Given the description of an element on the screen output the (x, y) to click on. 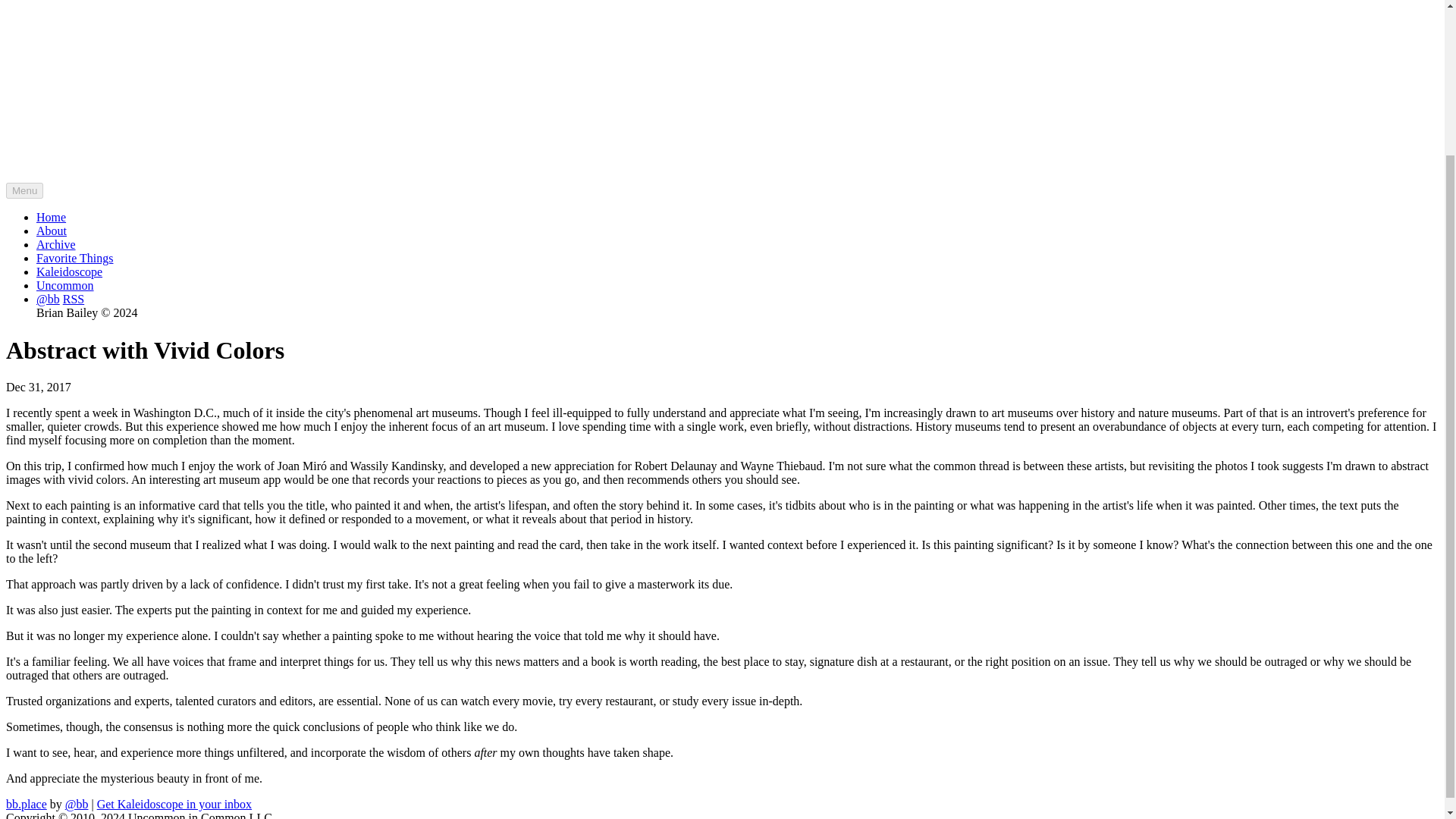
Get Kaleidoscope in your inbox (174, 803)
Uncommon (65, 285)
Favorite Things (74, 257)
Kaleidoscope (68, 271)
Home (50, 216)
bb.place (25, 803)
Menu (24, 190)
Archive (55, 244)
RSS (73, 298)
About (51, 230)
